Given the description of an element on the screen output the (x, y) to click on. 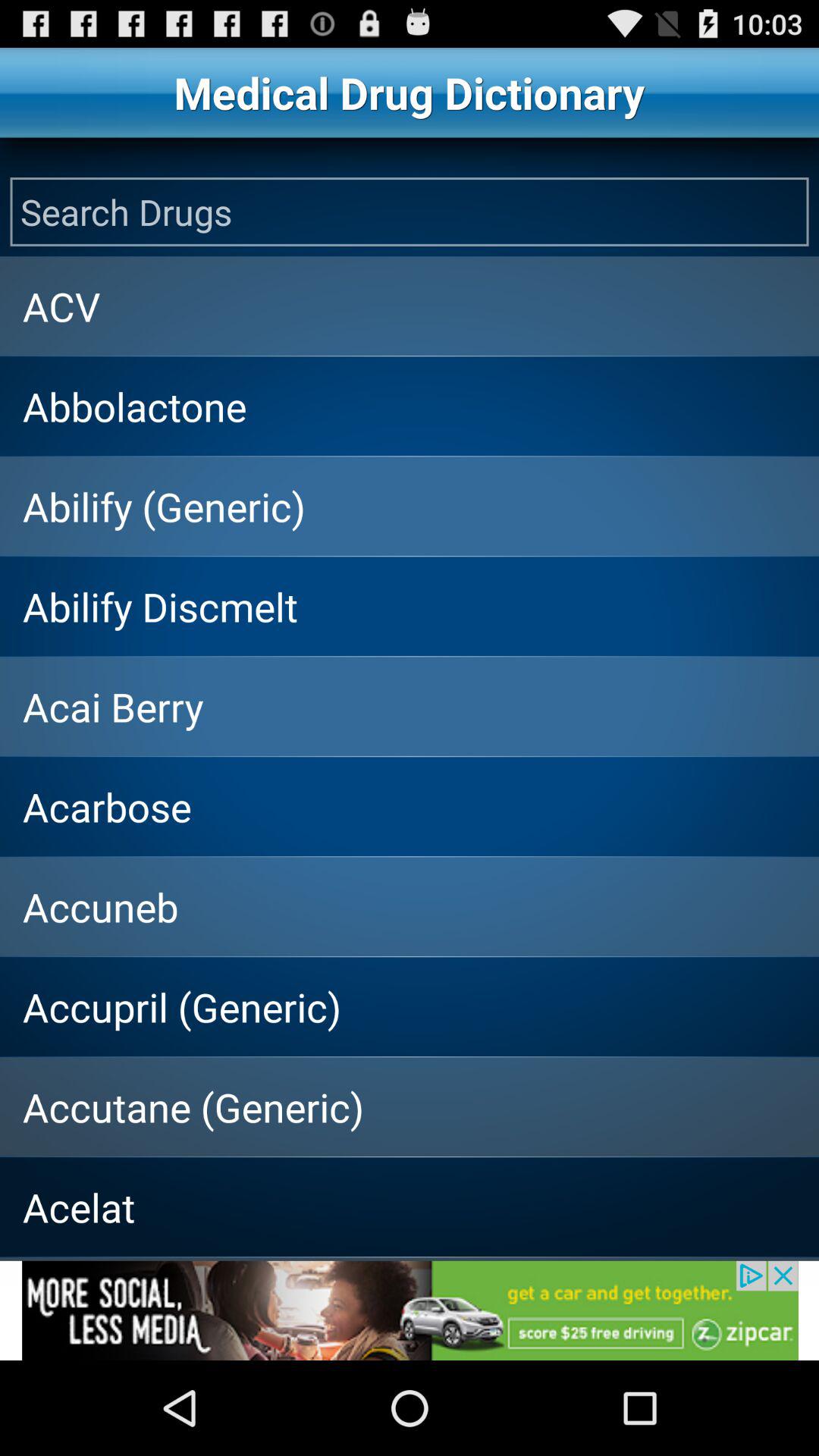
advertisement (409, 1310)
